Given the description of an element on the screen output the (x, y) to click on. 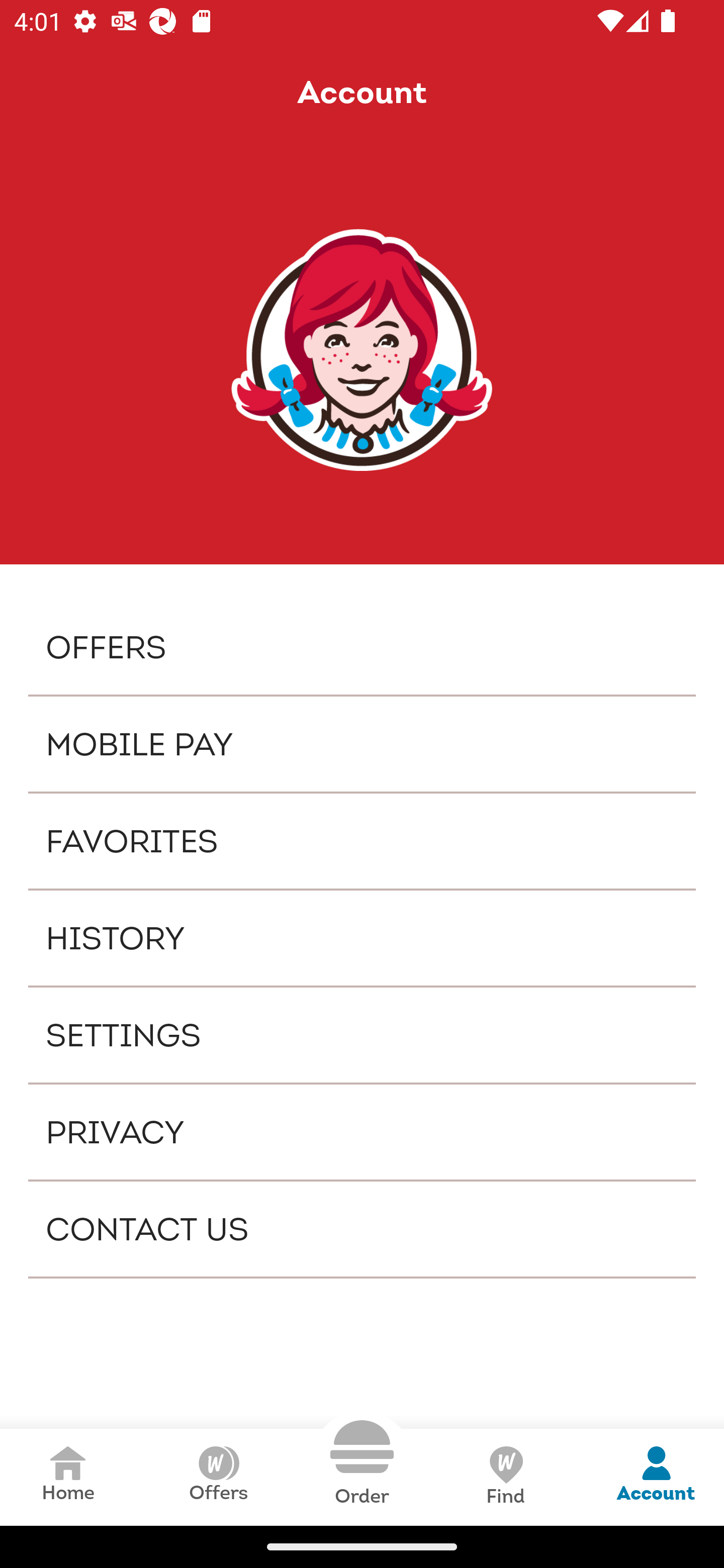
OFFERS Offers,1 of 8 (361, 646)
MOBILE PAY Mobile Pay,2 of 8 (361, 743)
FAVORITES Favorites,3 of 8 (361, 841)
HISTORY History,5 of 8 (361, 938)
SETTINGS Settings,6 of 8 (361, 1034)
PRIVACY Privacy,7 of 8 (361, 1132)
CONTACT US contact us,8 of 8 (361, 1229)
Order,3 of 5 Order (361, 1463)
Home,1 of 5 Home (68, 1476)
Rewards,2 of 5 Offers Offers (218, 1476)
Scan,4 of 5 Find Find (505, 1476)
Account,5 of 5 Account (655, 1476)
